Given the description of an element on the screen output the (x, y) to click on. 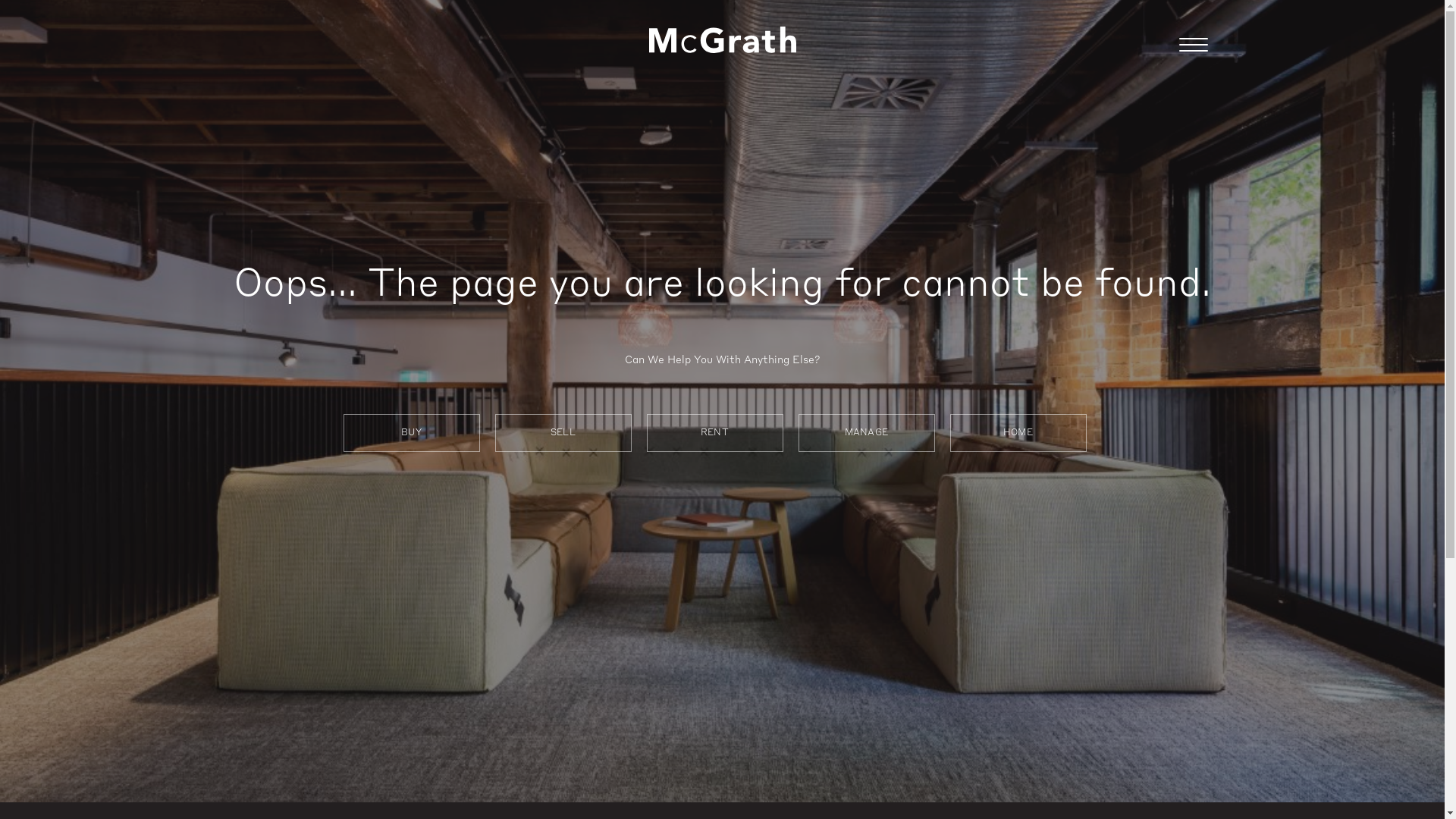
RENT Element type: text (714, 432)
BUY Element type: text (410, 432)
MANAGE Element type: text (865, 432)
SELL Element type: text (562, 432)
HOME Element type: text (1017, 432)
